Given the description of an element on the screen output the (x, y) to click on. 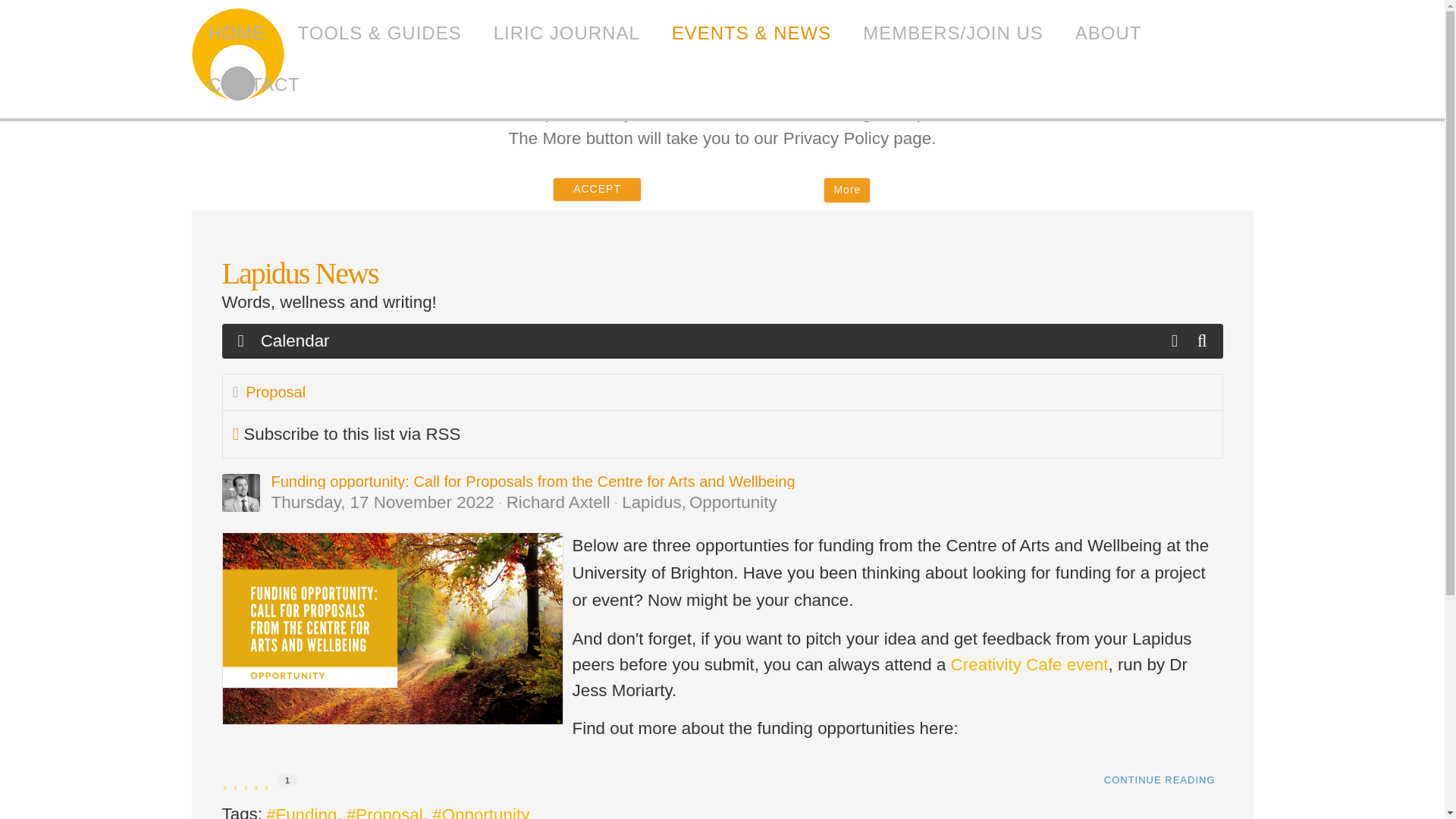
CONTACT (252, 84)
More (847, 190)
ACCEPT (597, 189)
ABOUT (1108, 32)
1 vote (287, 780)
Calendar (295, 341)
Lapidus (237, 57)
LIRIC JOURNAL (566, 32)
Subscribe to this list via RSS (351, 434)
HOME (236, 32)
